Given the description of an element on the screen output the (x, y) to click on. 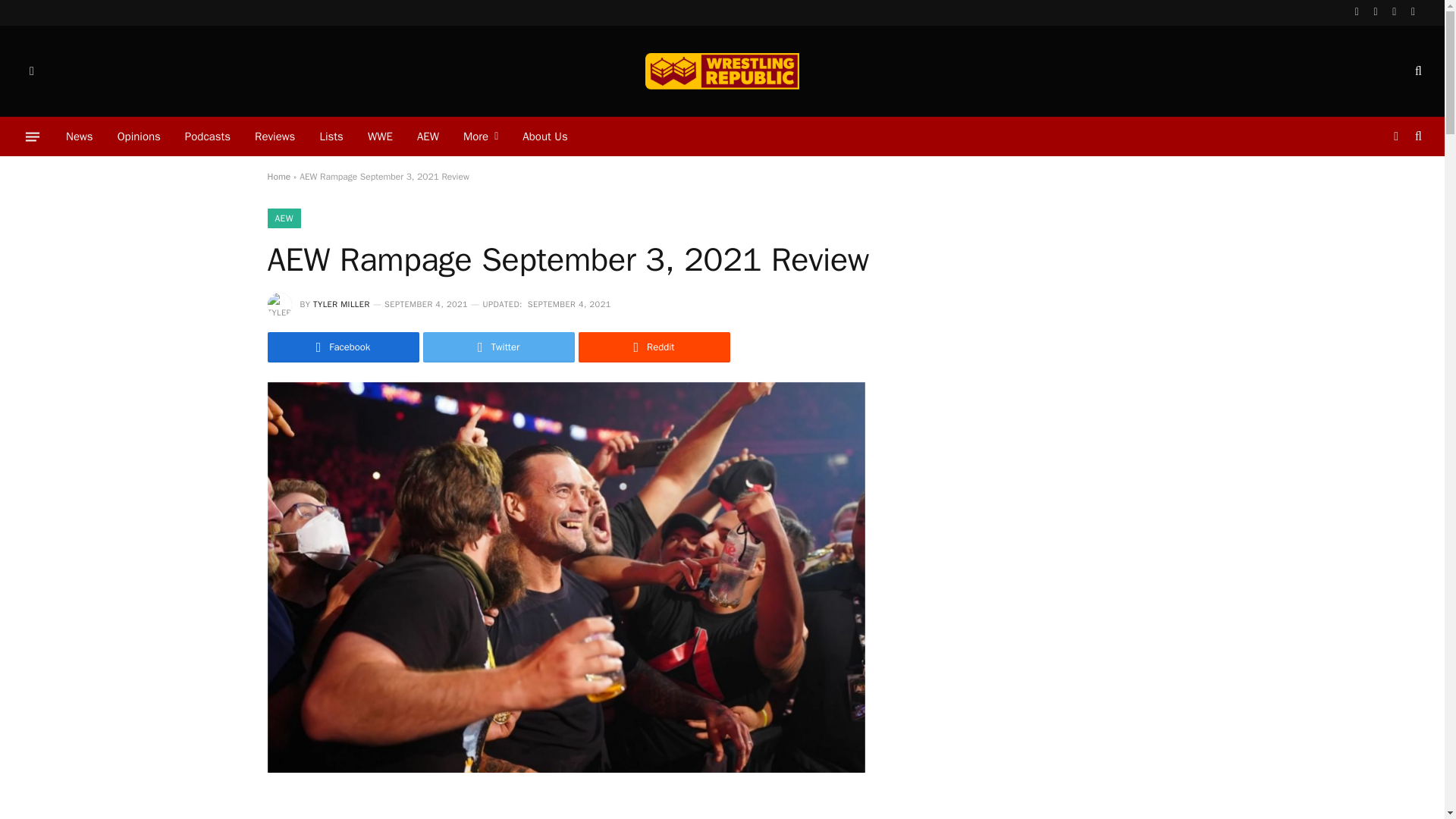
Wrestling Republic (721, 71)
WWE (379, 136)
More (481, 136)
Reviews (275, 136)
News (78, 136)
Switch to Dark Design - easier on eyes. (30, 70)
AEW (427, 136)
Switch to Dark Design - easier on eyes. (1396, 136)
Opinions (138, 136)
Home (277, 176)
Share on Facebook (342, 347)
Podcasts (208, 136)
AEW (282, 218)
Posts by Tyler Miller (341, 303)
About Us (545, 136)
